Given the description of an element on the screen output the (x, y) to click on. 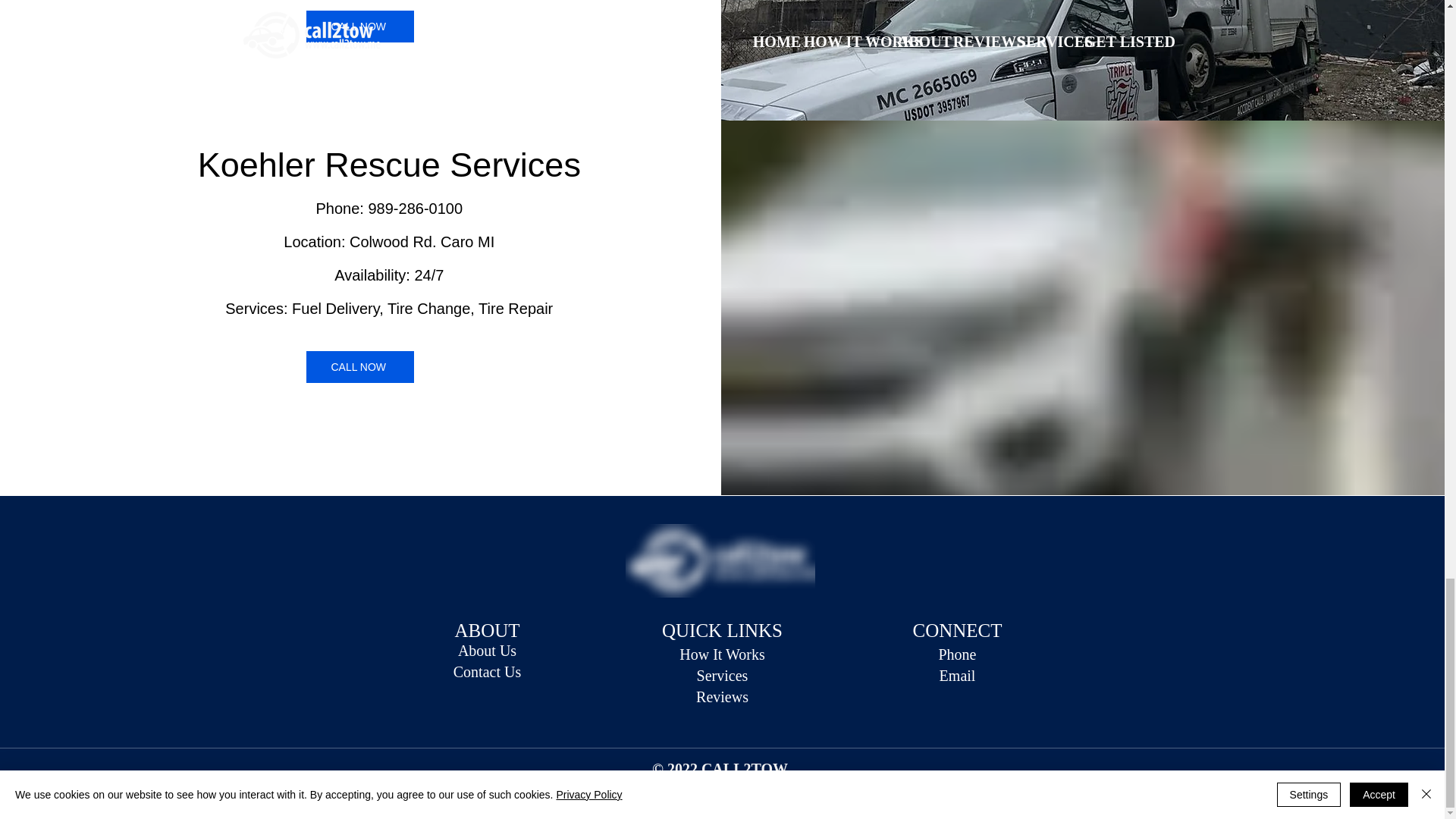
PRIVACY POLICY (673, 783)
CALL NOW (359, 367)
Call2Tow (718, 560)
ACCESSIBILITY POLICY (762, 791)
Contact Us (486, 671)
Services (722, 674)
Reviews (721, 695)
CALL NOW (359, 25)
Email (957, 674)
About Us (487, 650)
